Given the description of an element on the screen output the (x, y) to click on. 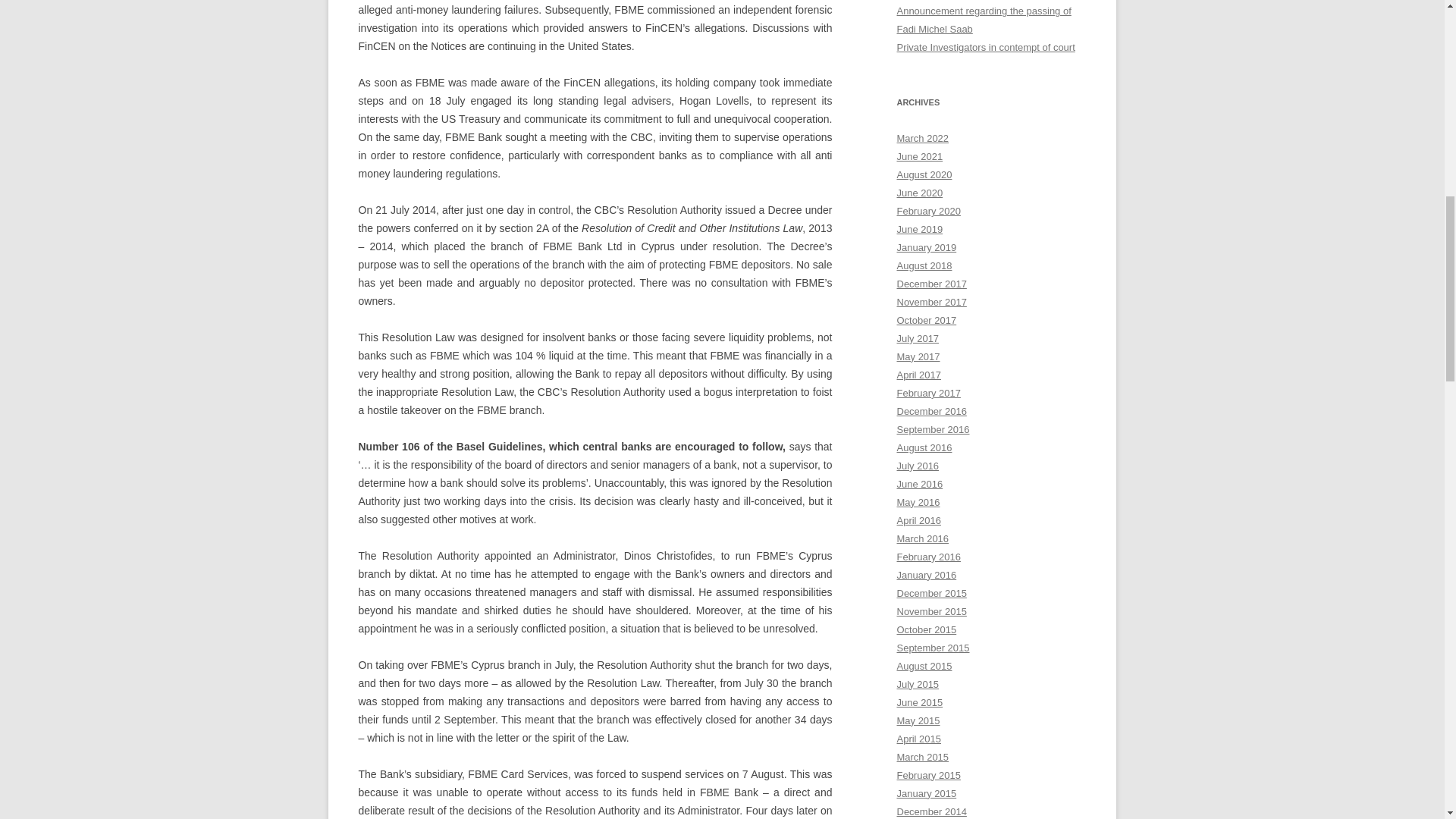
April 2017 (918, 374)
Private Investigators in contempt of court (985, 47)
November 2017 (931, 301)
August 2020 (924, 174)
January 2019 (926, 247)
July 2017 (917, 337)
May 2017 (917, 356)
December 2017 (931, 283)
Announcement regarding the passing of Fadi Michel Saab (983, 19)
February 2020 (927, 211)
